Given the description of an element on the screen output the (x, y) to click on. 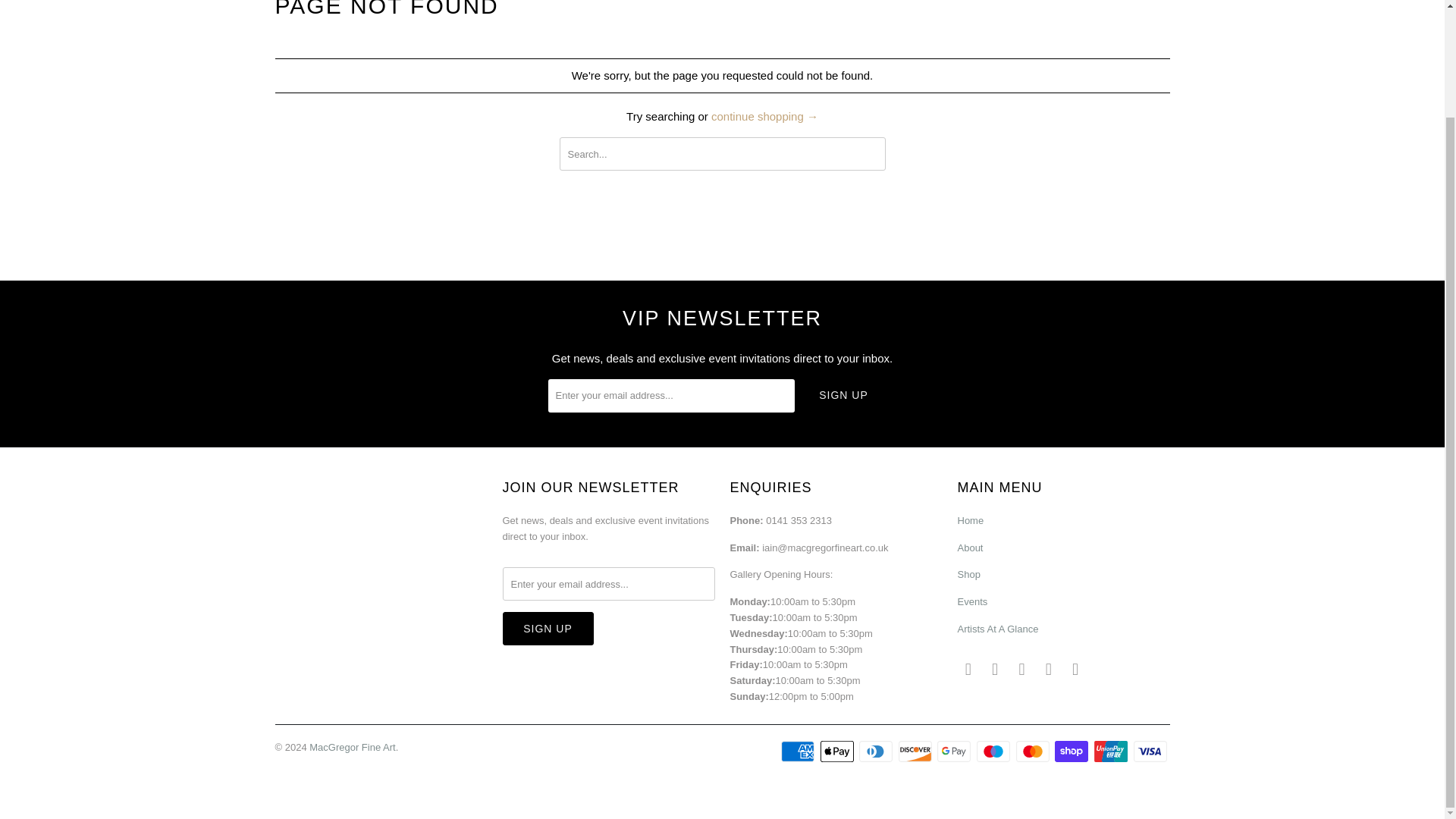
Discover (916, 751)
Maestro (994, 751)
Apple Pay (839, 751)
Union Pay (1112, 751)
Shop Pay (1072, 751)
Email MacGregor Fine Art (1075, 669)
MacGregor Fine Art on Instagram (1047, 669)
Sign Up (547, 628)
MacGregor Fine Art on Facebook (995, 669)
MacGregor Fine Art on Twitter (967, 669)
